Given the description of an element on the screen output the (x, y) to click on. 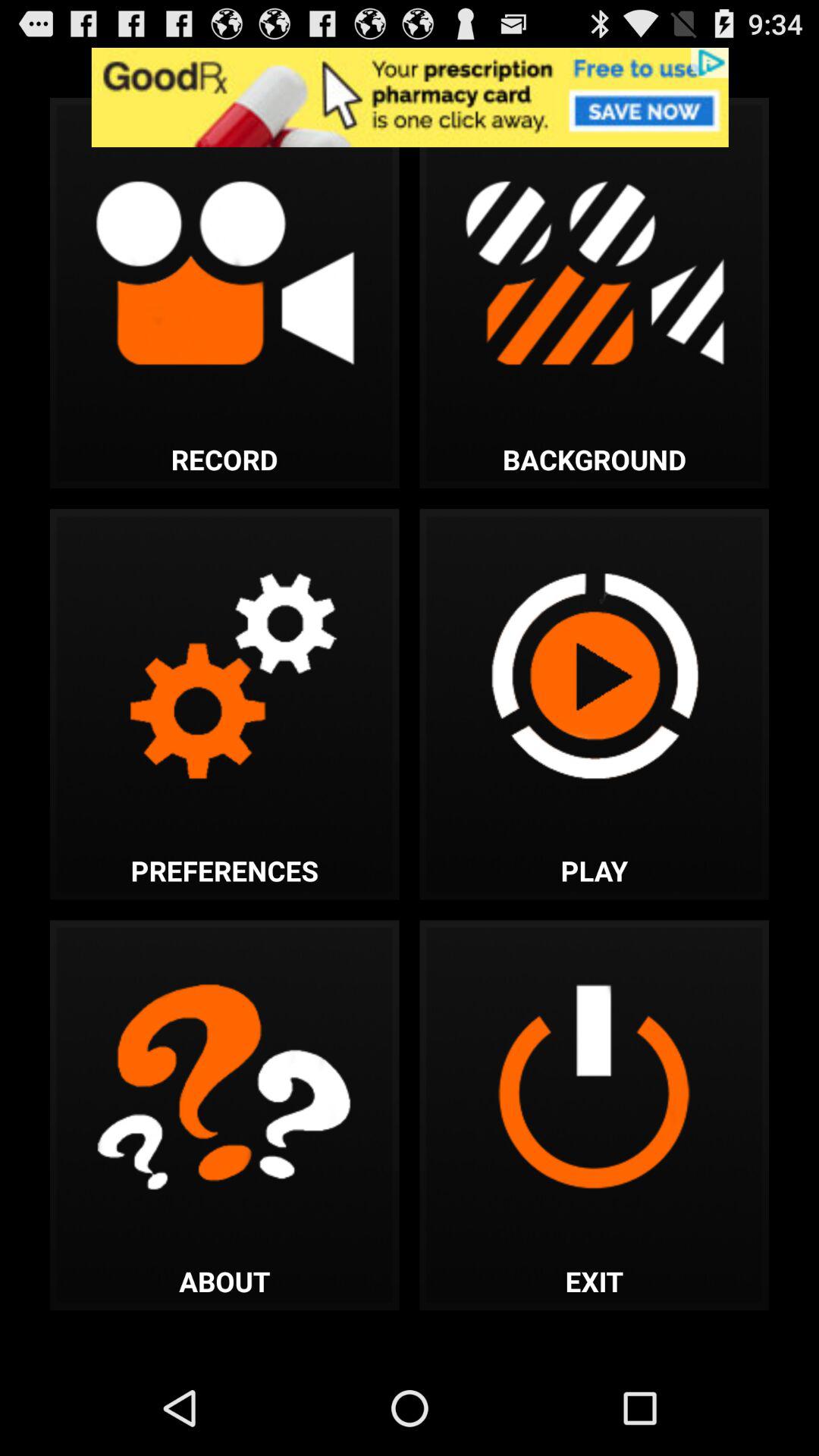
open advertisement (409, 97)
